Given the description of an element on the screen output the (x, y) to click on. 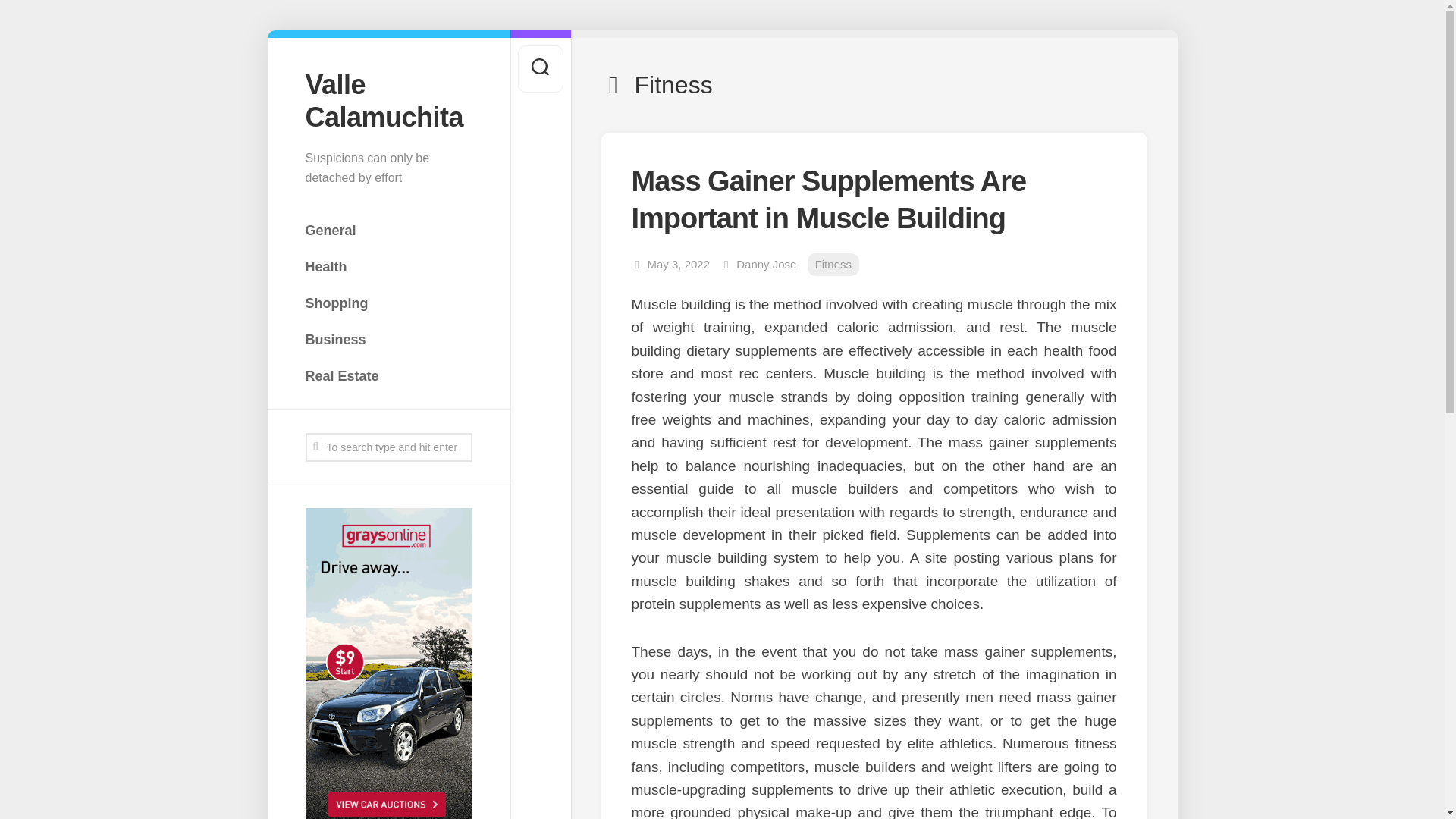
Shopping (387, 303)
Health (387, 266)
To search type and hit enter (387, 447)
General (387, 230)
To search type and hit enter (387, 447)
Real Estate (387, 376)
Valle Calamuchita (387, 100)
Posts by Danny Jose (766, 264)
Danny Jose (766, 264)
Business (387, 339)
Mass Gainer Supplements Are Important in Muscle Building (828, 199)
Fitness (833, 264)
